Given the description of an element on the screen output the (x, y) to click on. 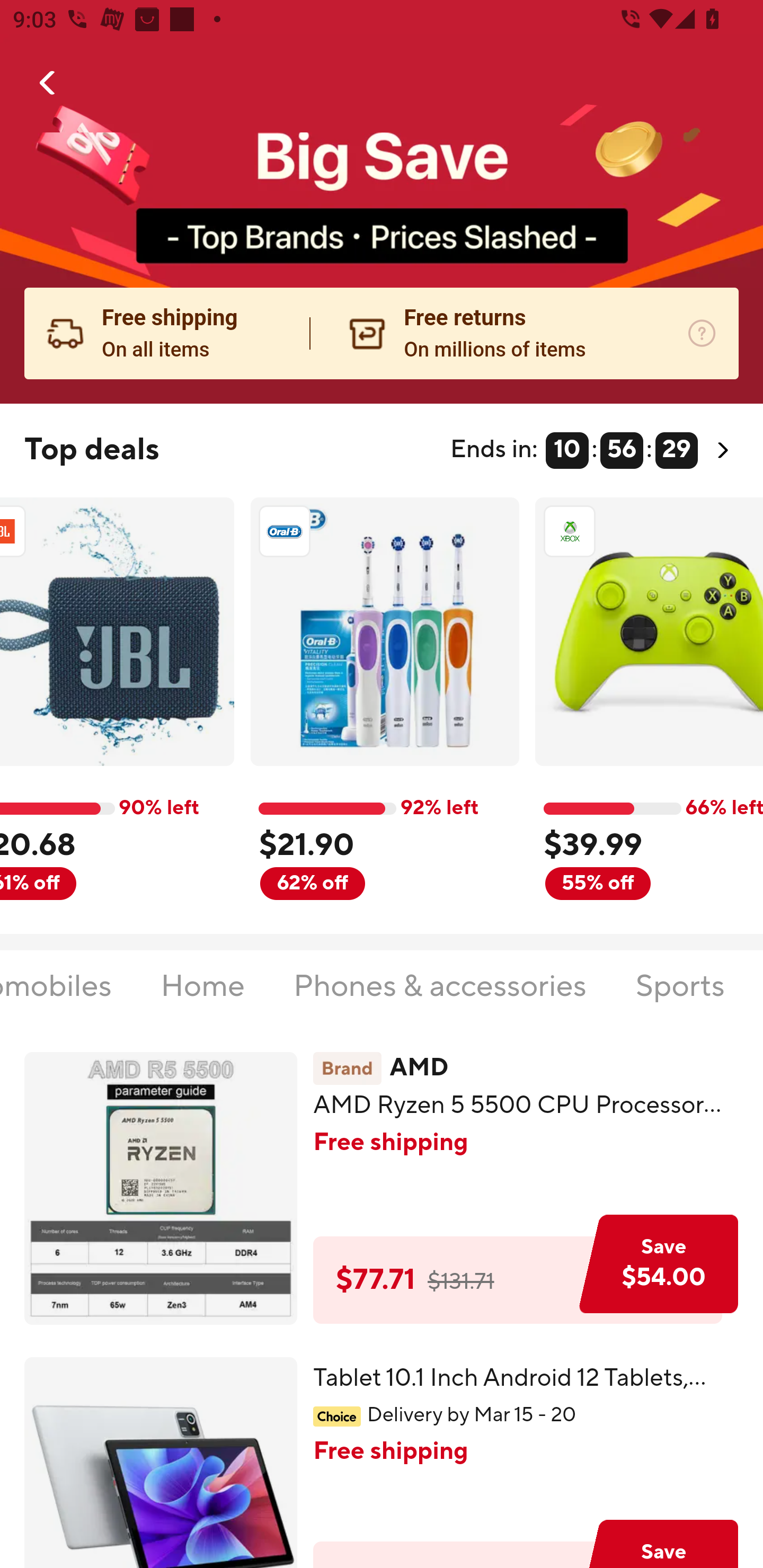
 (48, 82)
Automobiles (56, 996)
Home (202, 996)
Phones & accessories (439, 996)
Sports (679, 996)
